Given the description of an element on the screen output the (x, y) to click on. 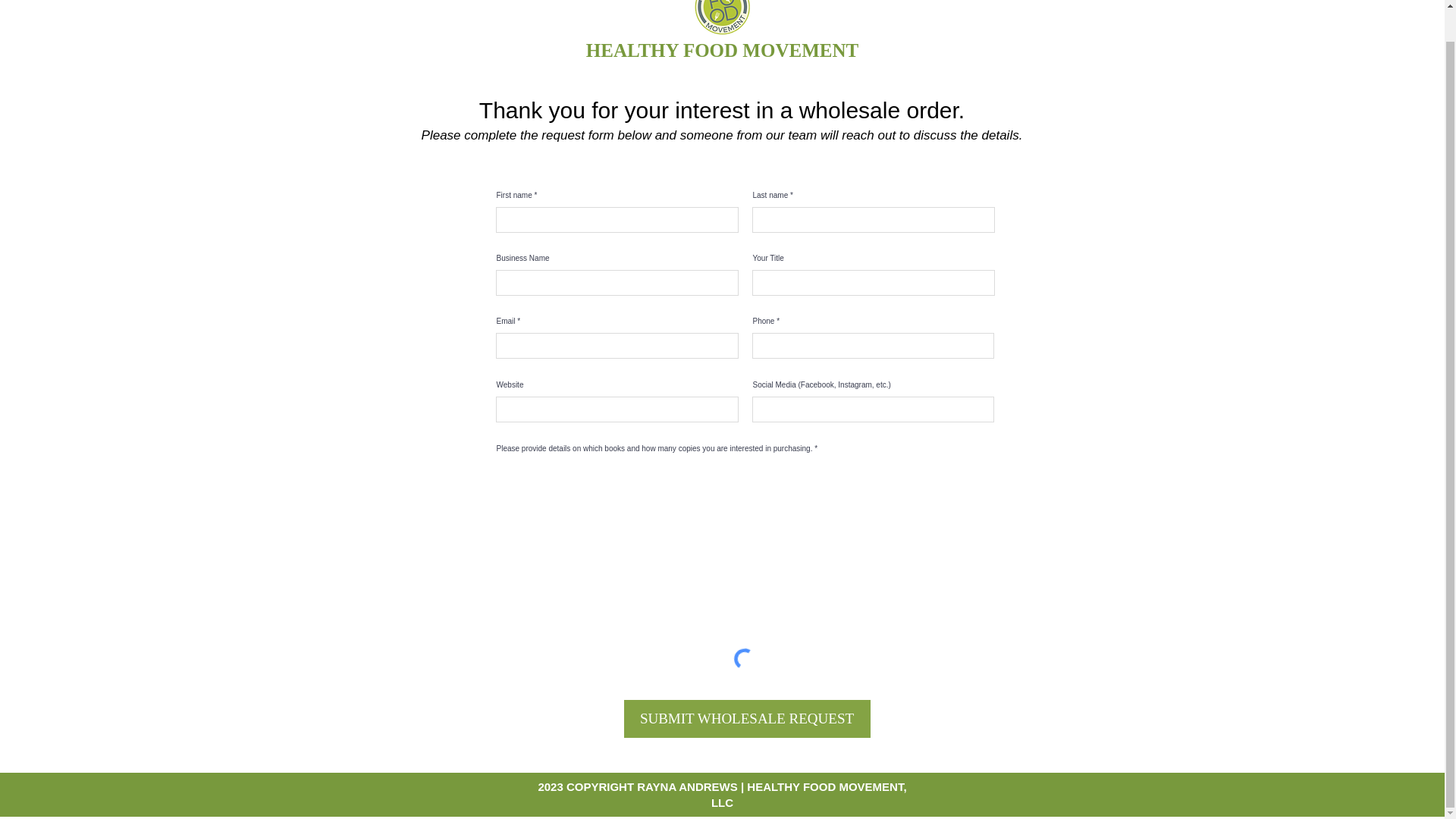
HFM Logo.png (722, 17)
SUBMIT WHOLESALE REQUEST (746, 718)
